Given the description of an element on the screen output the (x, y) to click on. 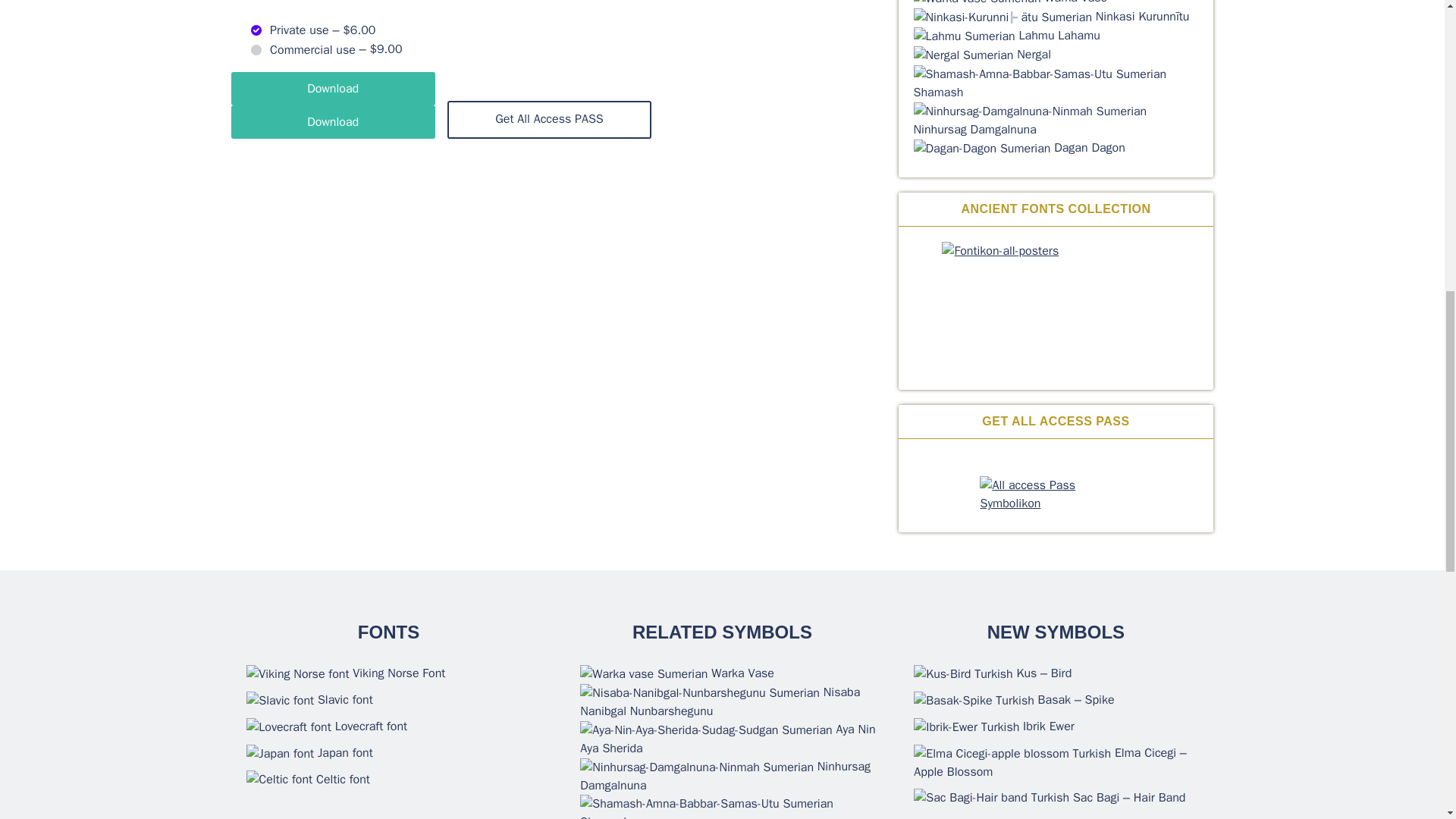
Warka Vase (976, 3)
Download (331, 121)
Warka Vase (977, 2)
Download (331, 121)
Download (331, 88)
